Given the description of an element on the screen output the (x, y) to click on. 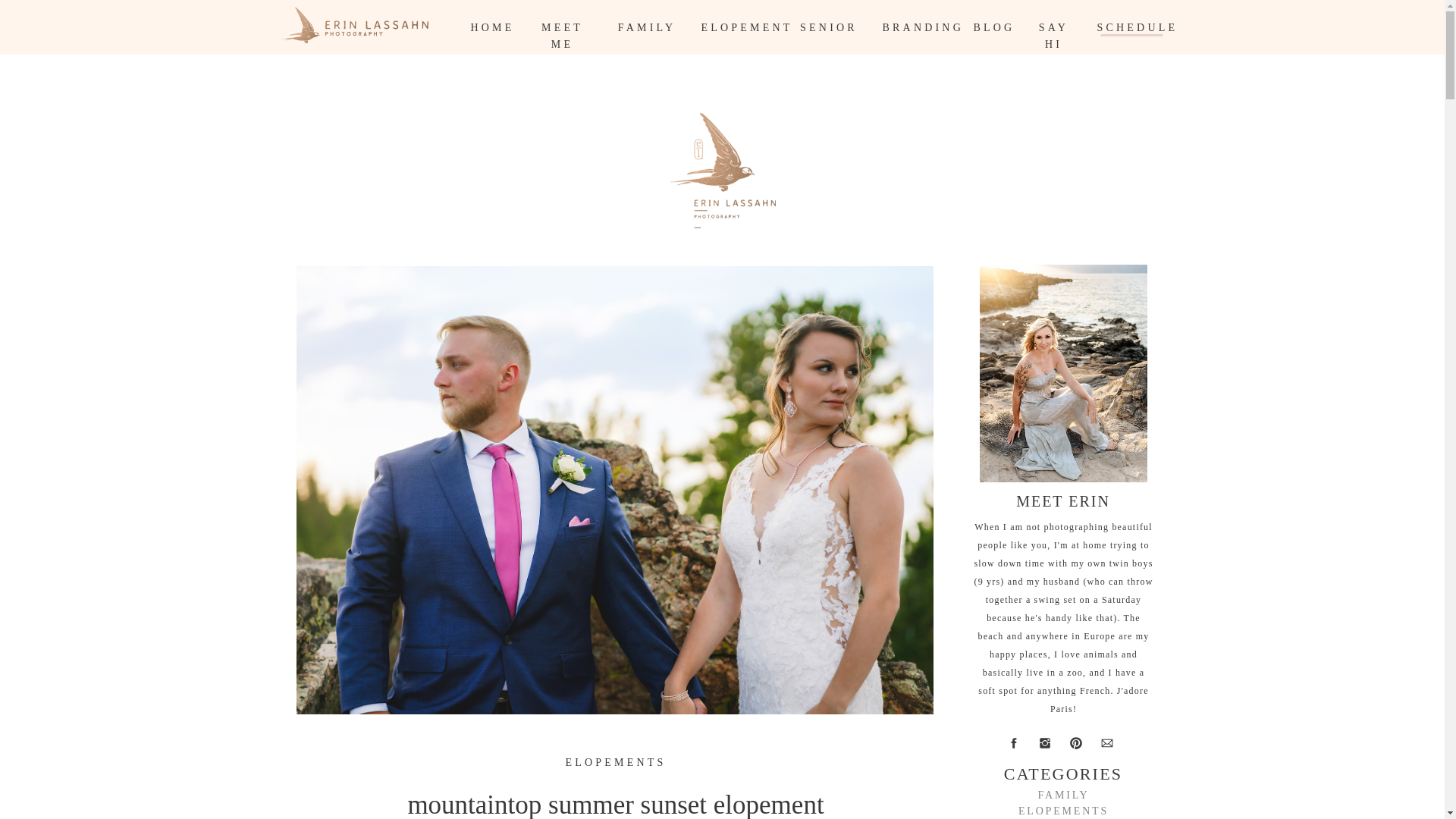
ELOPEMENTS (1063, 811)
SAY HI (1053, 27)
BRANDING (919, 27)
ELOPEMENT (737, 27)
HOME (491, 27)
FAMILY (1063, 795)
BLOG (992, 27)
FAMILY (646, 27)
ELOPEMENTS (616, 762)
SCHEDULE (1133, 27)
MEET ME (562, 27)
SENIOR (828, 27)
